Given the description of an element on the screen output the (x, y) to click on. 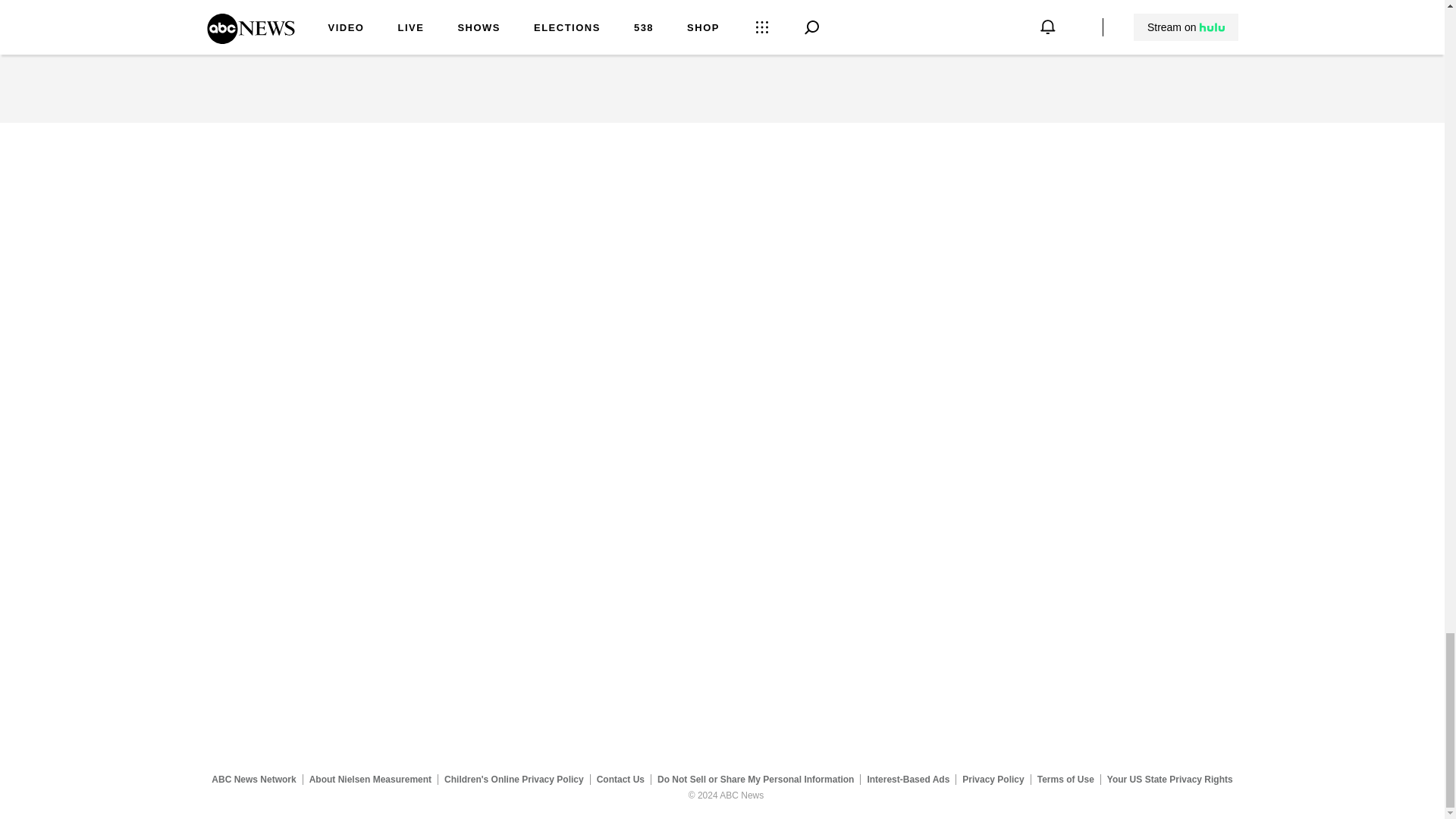
ABC News Network (253, 778)
Terms of Use (1065, 778)
About Nielsen Measurement (370, 778)
Your US State Privacy Rights (1169, 778)
Children's Online Privacy Policy (514, 778)
Do Not Sell or Share My Personal Information (755, 778)
Privacy Policy (993, 778)
Interest-Based Ads (908, 778)
Contact Us (620, 778)
